Given the description of an element on the screen output the (x, y) to click on. 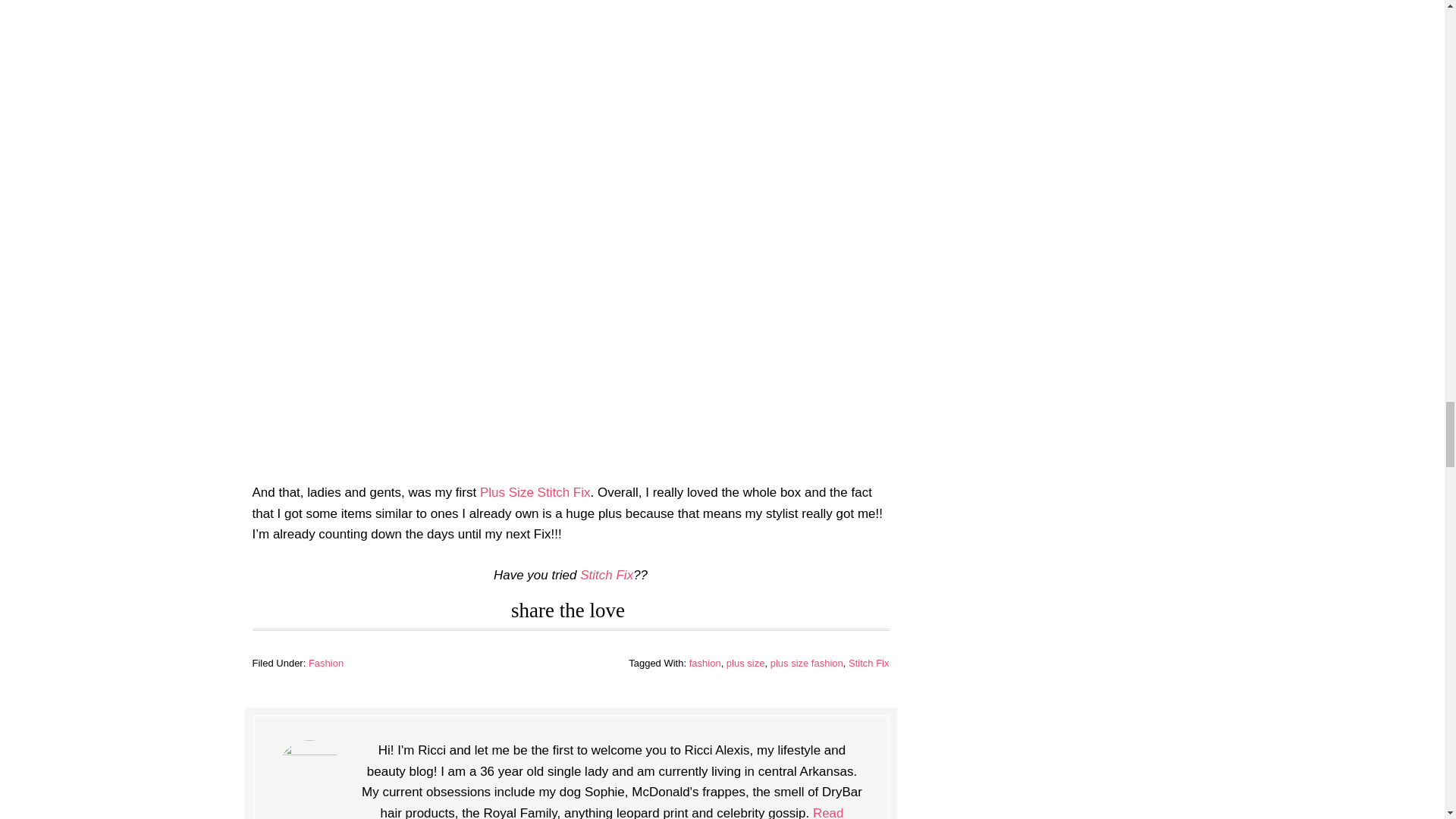
plus size fashion (806, 663)
Stitch Fix (606, 575)
Fashion (325, 663)
Plus Size Stitch Fix (535, 492)
fashion (704, 663)
Stitch Fix (868, 663)
plus size (745, 663)
